Given the description of an element on the screen output the (x, y) to click on. 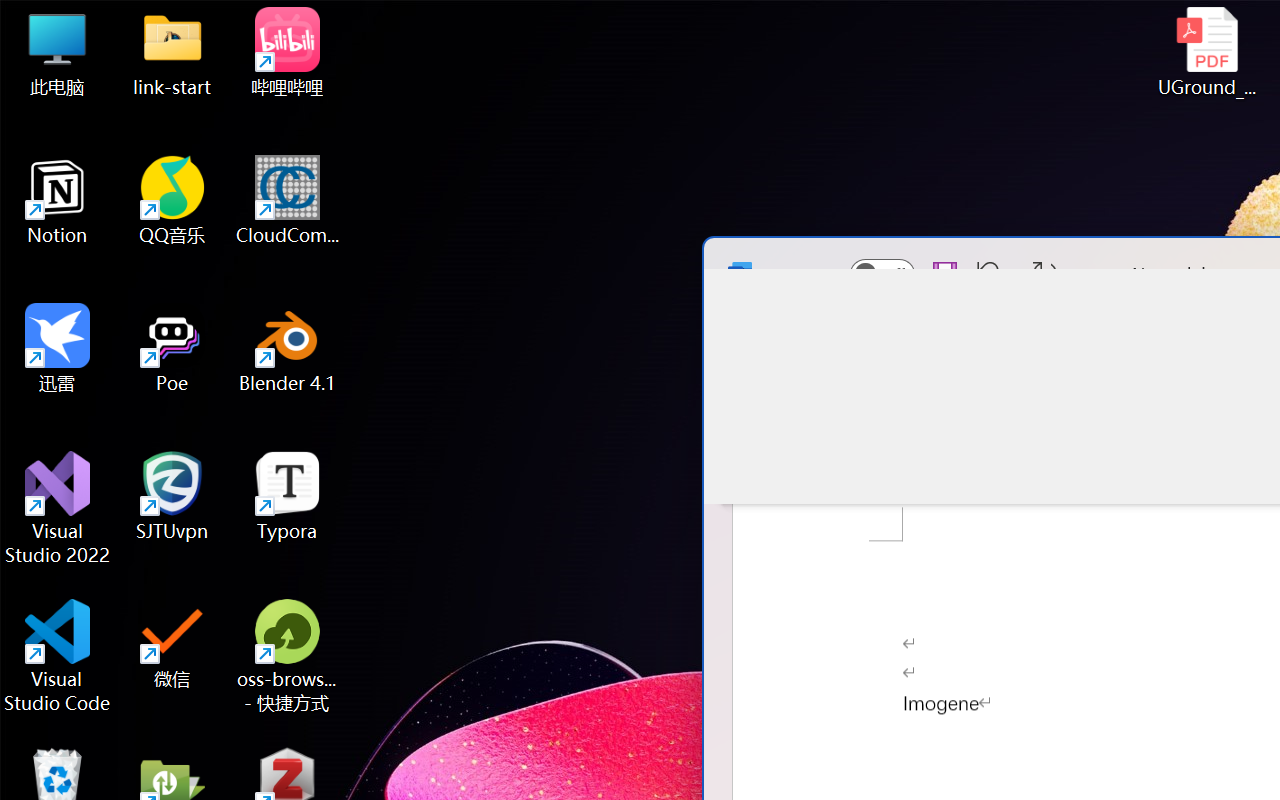
Notion (57, 200)
Pen: Galaxy, 1 mm (1130, 411)
link-start (172, 52)
Pen: Red, 0.5 mm (1057, 411)
SJTUvpn (172, 496)
